Given the description of an element on the screen output the (x, y) to click on. 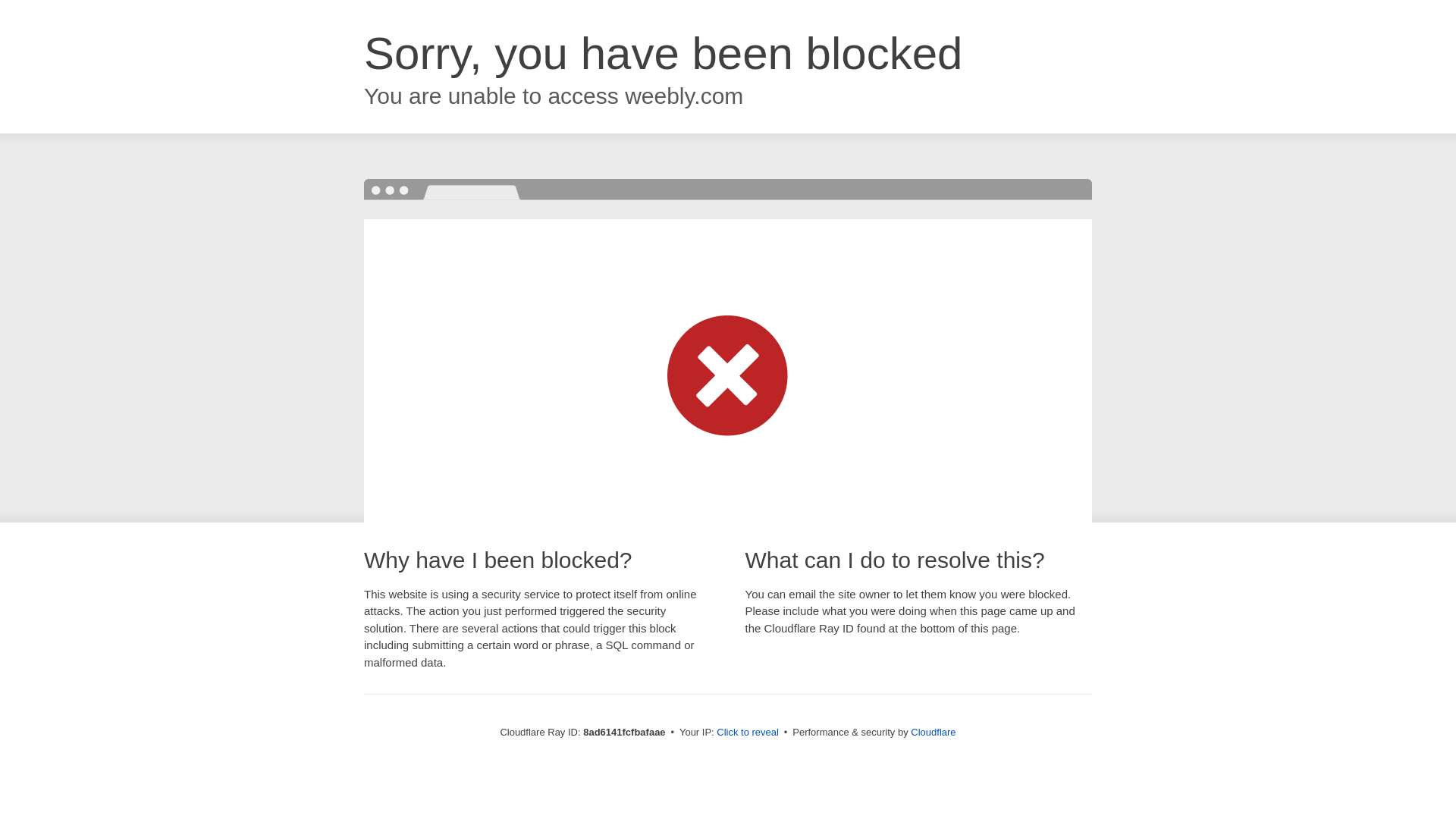
Click to reveal (747, 732)
Cloudflare (933, 731)
